Given the description of an element on the screen output the (x, y) to click on. 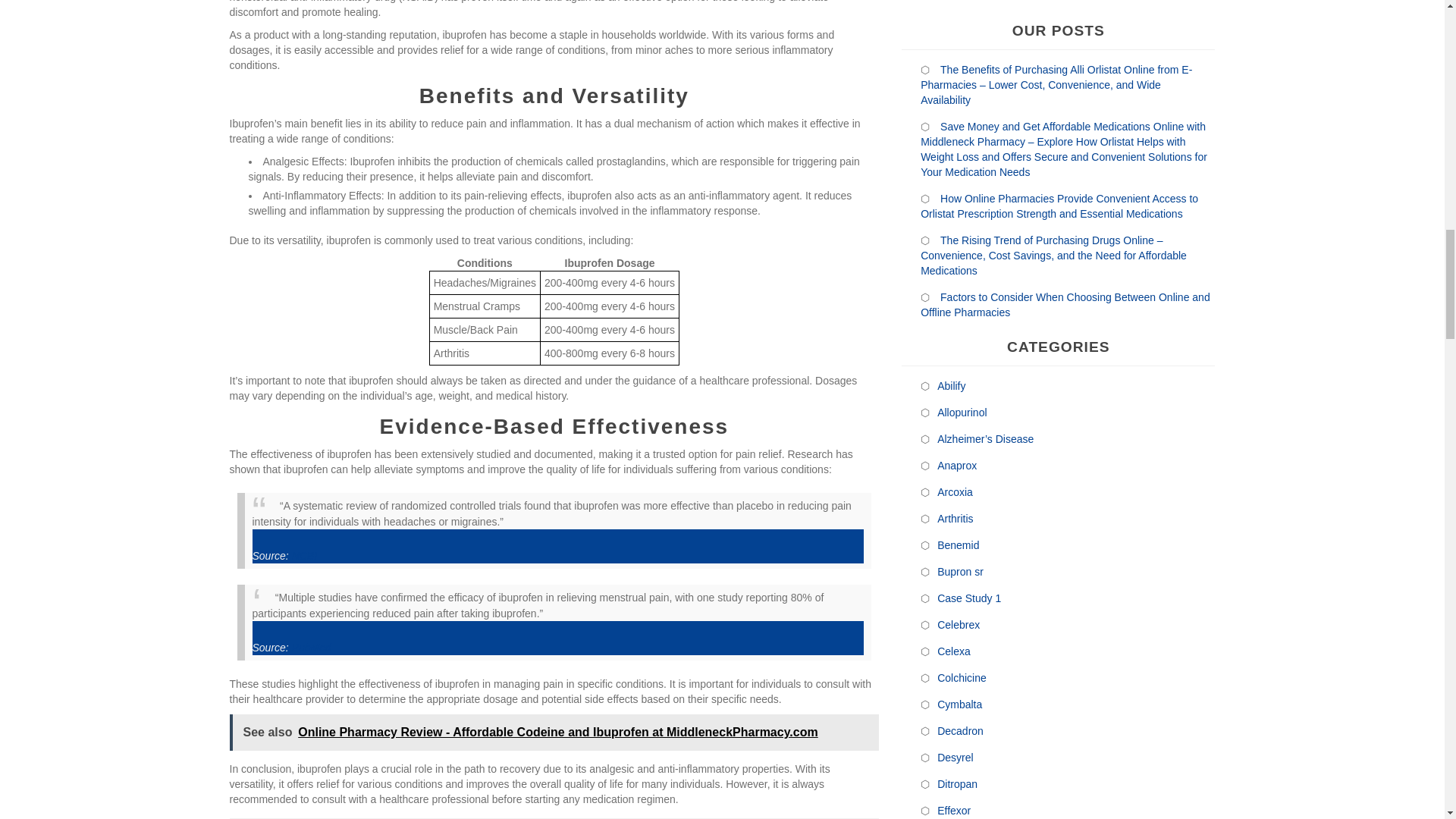
NCBI (304, 555)
PubMed (311, 647)
